Given the description of an element on the screen output the (x, y) to click on. 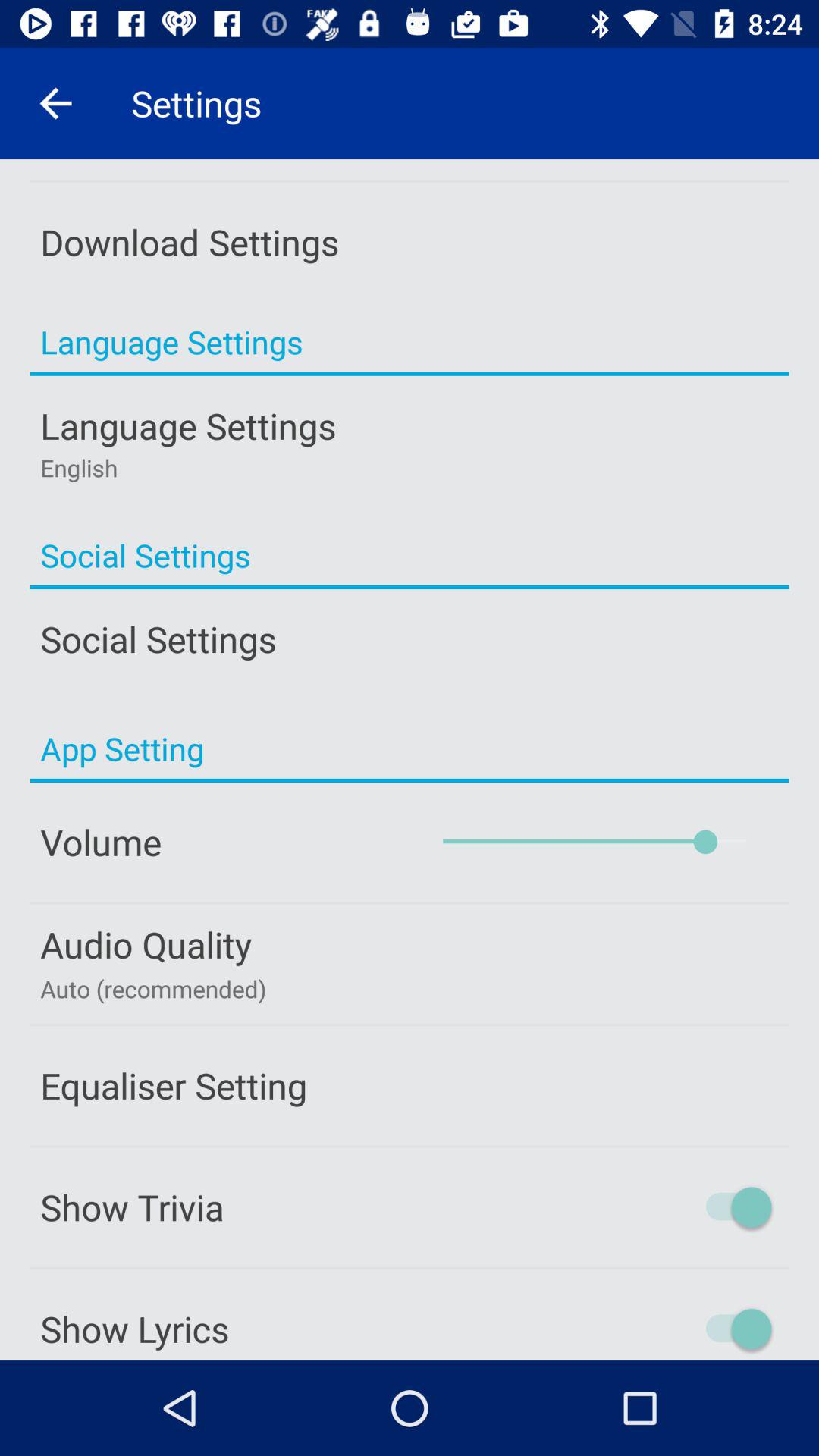
button to show and unshow lyrics (674, 1328)
